Given the description of an element on the screen output the (x, y) to click on. 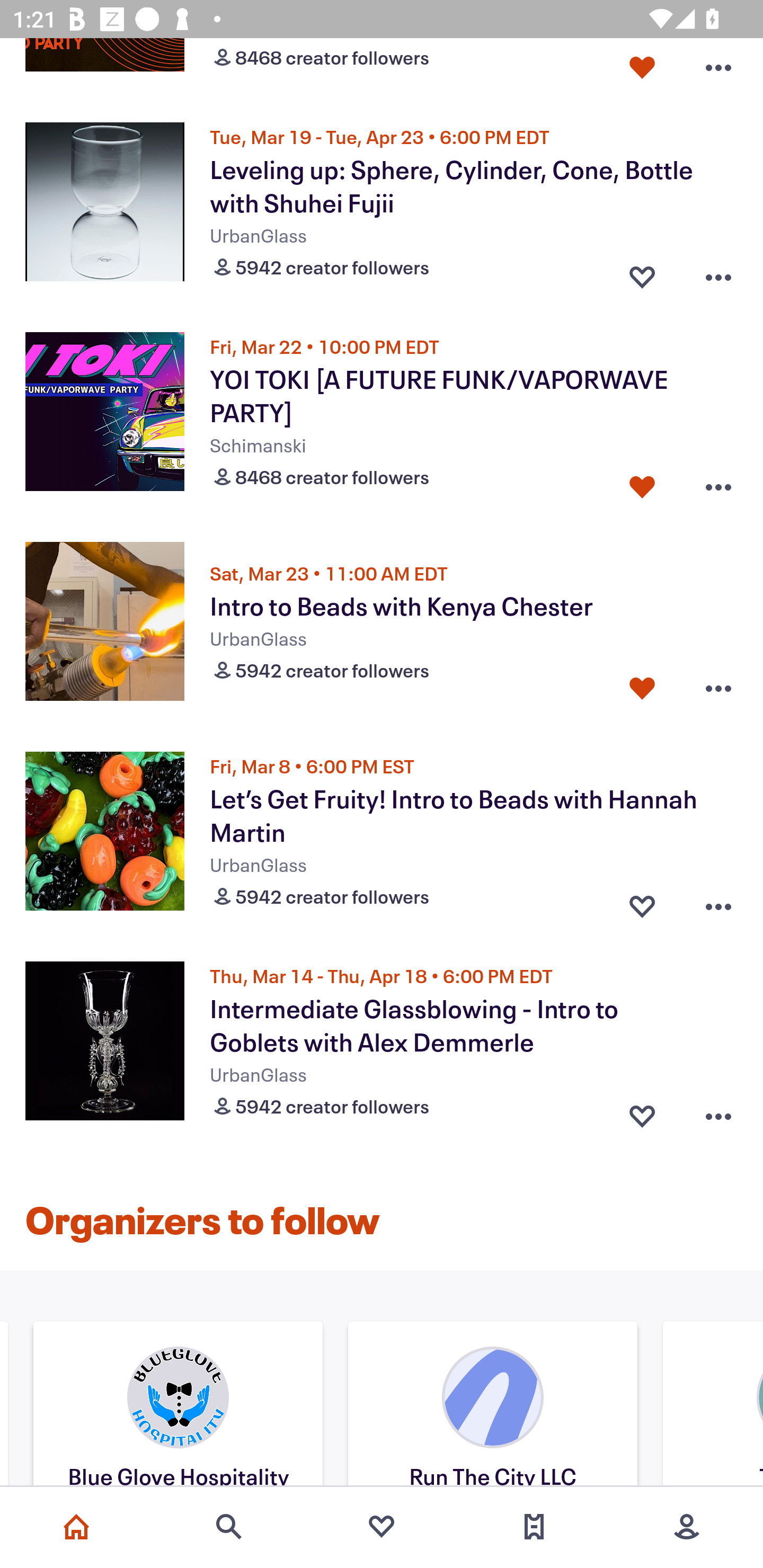
Favorite button (642, 67)
Overflow menu button (718, 67)
Favorite button (642, 273)
Overflow menu button (718, 273)
Favorite button (642, 481)
Overflow menu button (718, 481)
Favorite button (642, 687)
Overflow menu button (718, 687)
Favorite button (642, 902)
Overflow menu button (718, 902)
Favorite button (642, 1112)
Overflow menu button (718, 1112)
Organizer's image Blue Glove Hospitality (177, 1406)
Organizer's image Run The City LLC (492, 1406)
Home (76, 1526)
Search events (228, 1526)
Favorites (381, 1526)
Tickets (533, 1526)
More (686, 1526)
